Given the description of an element on the screen output the (x, y) to click on. 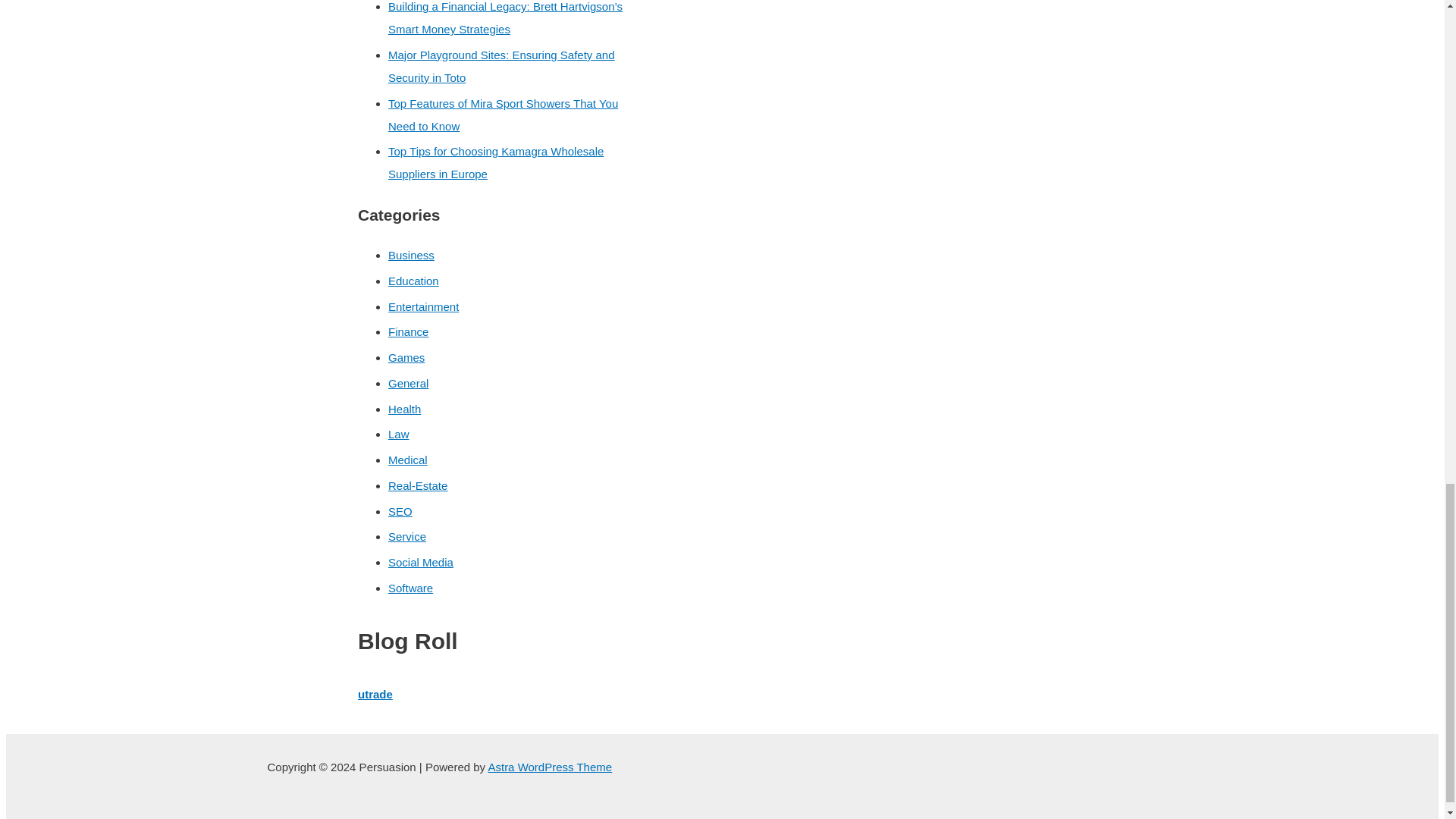
Games (406, 357)
Health (404, 408)
Software (410, 587)
Real-Estate (417, 485)
Education (413, 280)
Top Features of Mira Sport Showers That You Need to Know (502, 114)
General (408, 382)
Service (407, 535)
Major Playground Sites: Ensuring Safety and Security in Toto (501, 66)
Law (398, 433)
Finance (408, 331)
Business (410, 254)
SEO (400, 511)
Medical (408, 459)
Top Tips for Choosing Kamagra Wholesale Suppliers in Europe (496, 162)
